Given the description of an element on the screen output the (x, y) to click on. 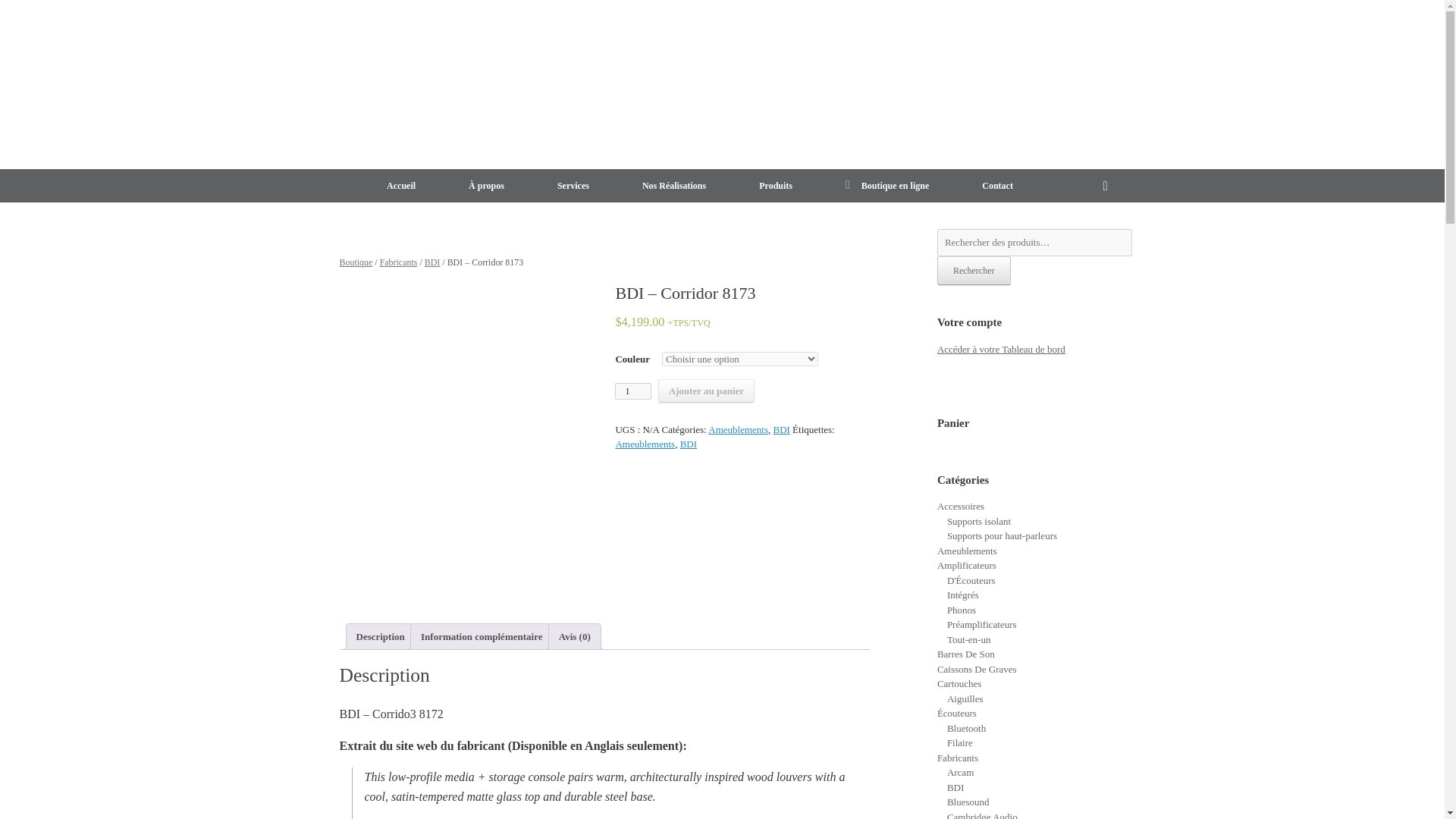
Accueil (400, 185)
Sensation Musicale (435, 84)
1 (632, 391)
Services (573, 185)
Produits (775, 185)
